Given the description of an element on the screen output the (x, y) to click on. 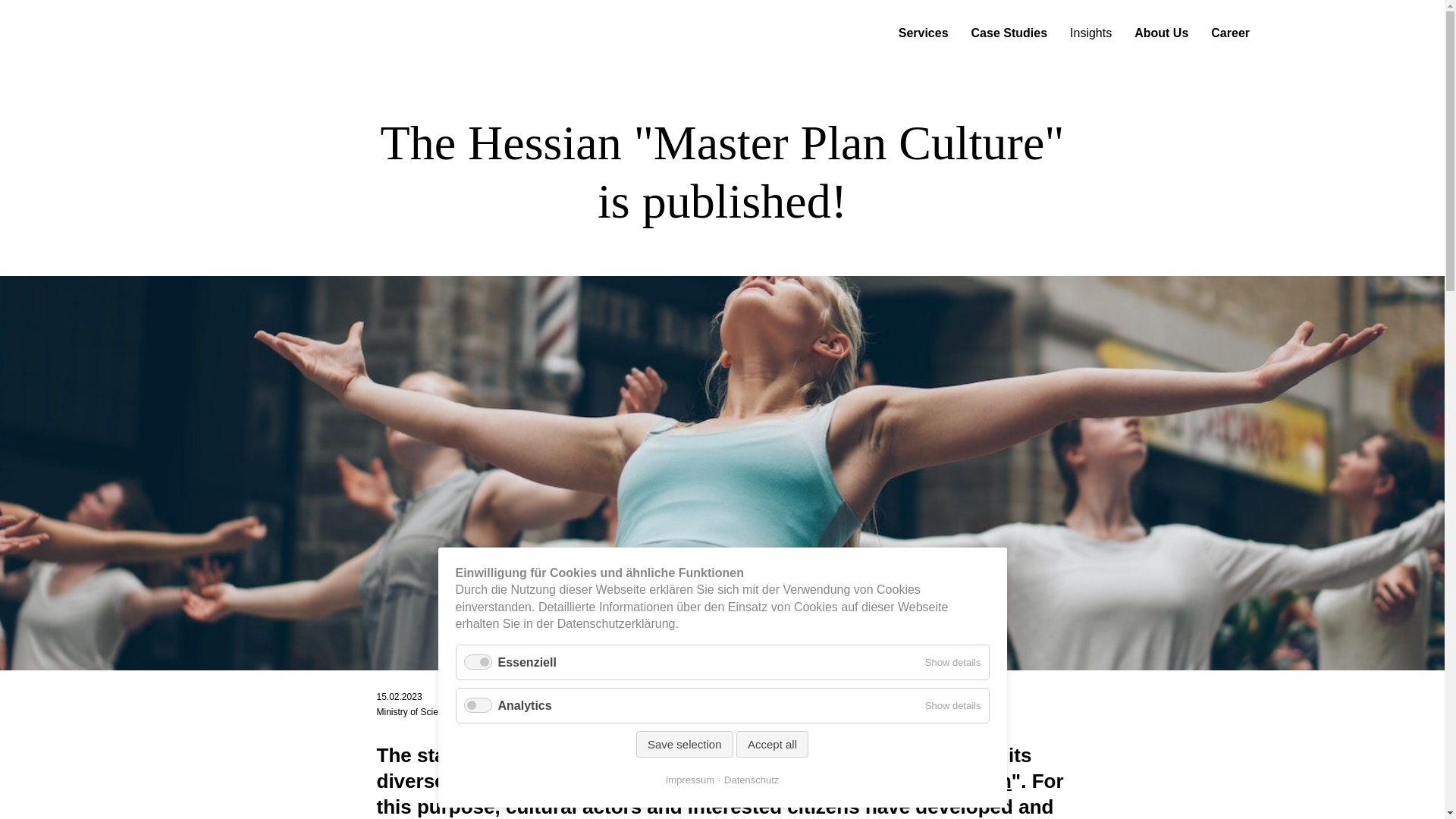
Accept all (772, 744)
Datenschutz (747, 779)
Case Studies (1008, 32)
Master Plan for Culture Hessen (865, 780)
Impressum (689, 779)
Save selection (684, 744)
Show details (952, 662)
Career (1230, 32)
Services (923, 32)
Insights (1091, 32)
Case Studies (1008, 32)
Insights (1091, 32)
Services (923, 32)
About Us (1161, 32)
